Given the description of an element on the screen output the (x, y) to click on. 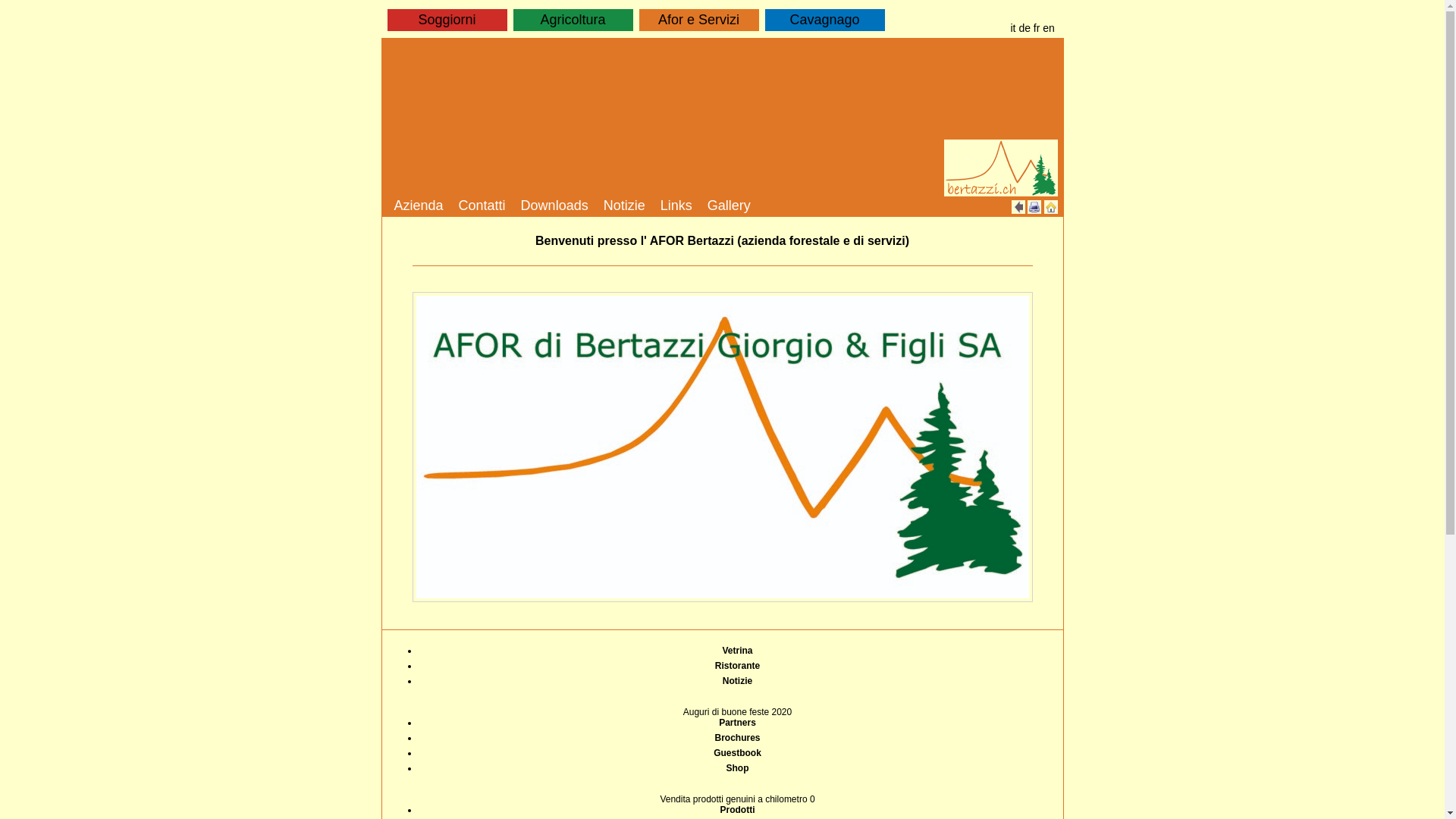
Cavagnago Element type: text (824, 19)
Homepage Element type: hover (1050, 206)
Downloads Element type: text (554, 206)
Afor e Servizi Element type: text (698, 19)
Soggiorni Element type: text (446, 19)
Auguri di buone feste 2020 Element type: text (737, 711)
Indietro Element type: hover (1018, 206)
Stampa Element type: hover (1034, 206)
fr Element type: text (1036, 27)
Vendita prodotti genuini a chilometro 0 Element type: text (736, 798)
Links Element type: text (675, 206)
Contatti Element type: text (482, 206)
Agricoltura Element type: text (572, 19)
de Element type: text (1024, 27)
en Element type: text (1048, 27)
Azienda Element type: text (418, 206)
Gallery Element type: text (728, 206)
Notizie Element type: text (624, 206)
